Given the description of an element on the screen output the (x, y) to click on. 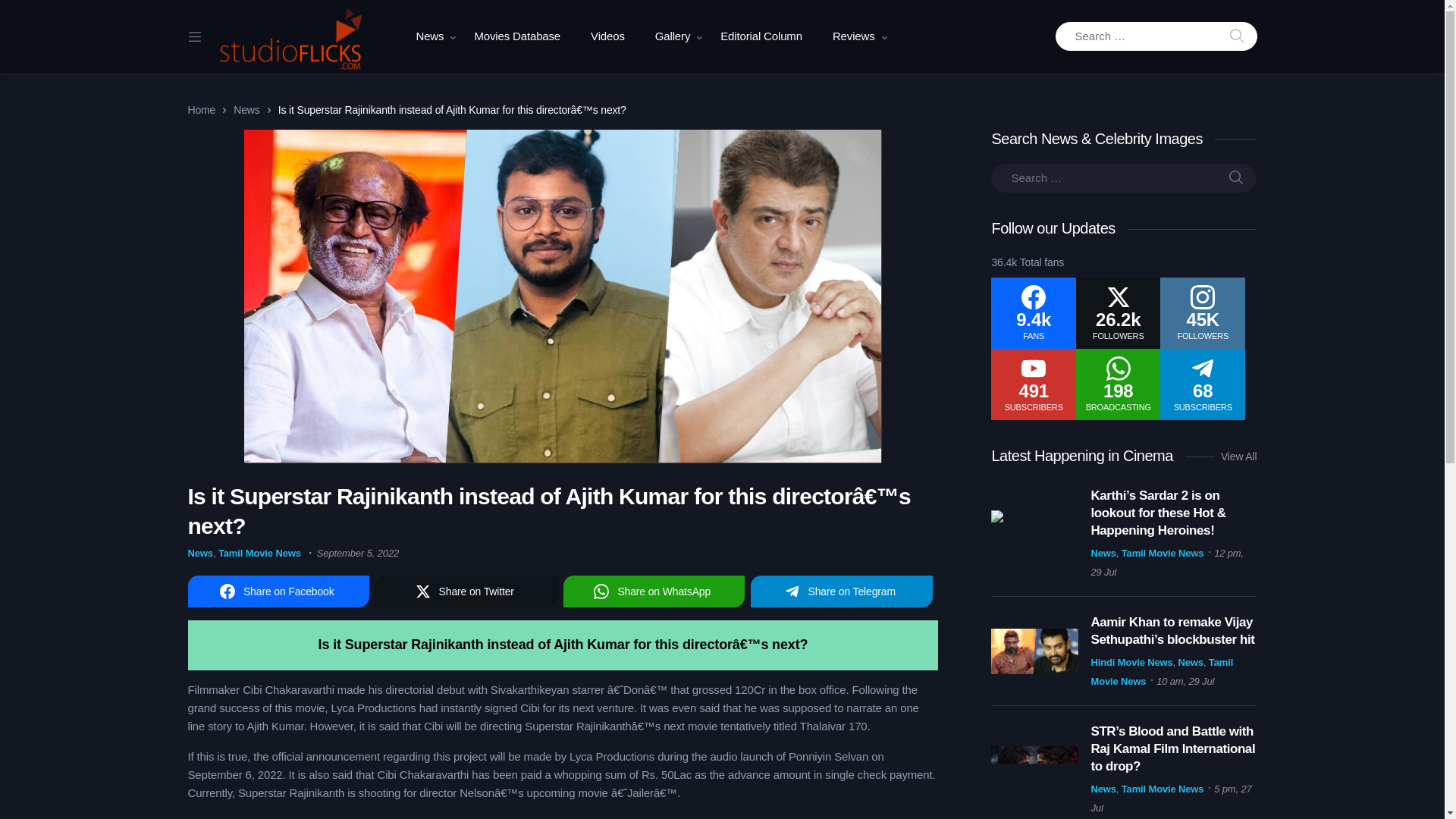
Editorial Column (760, 35)
Reviews (852, 35)
Movies Database (516, 35)
News (429, 35)
Gallery (672, 35)
Videos (607, 35)
